Given the description of an element on the screen output the (x, y) to click on. 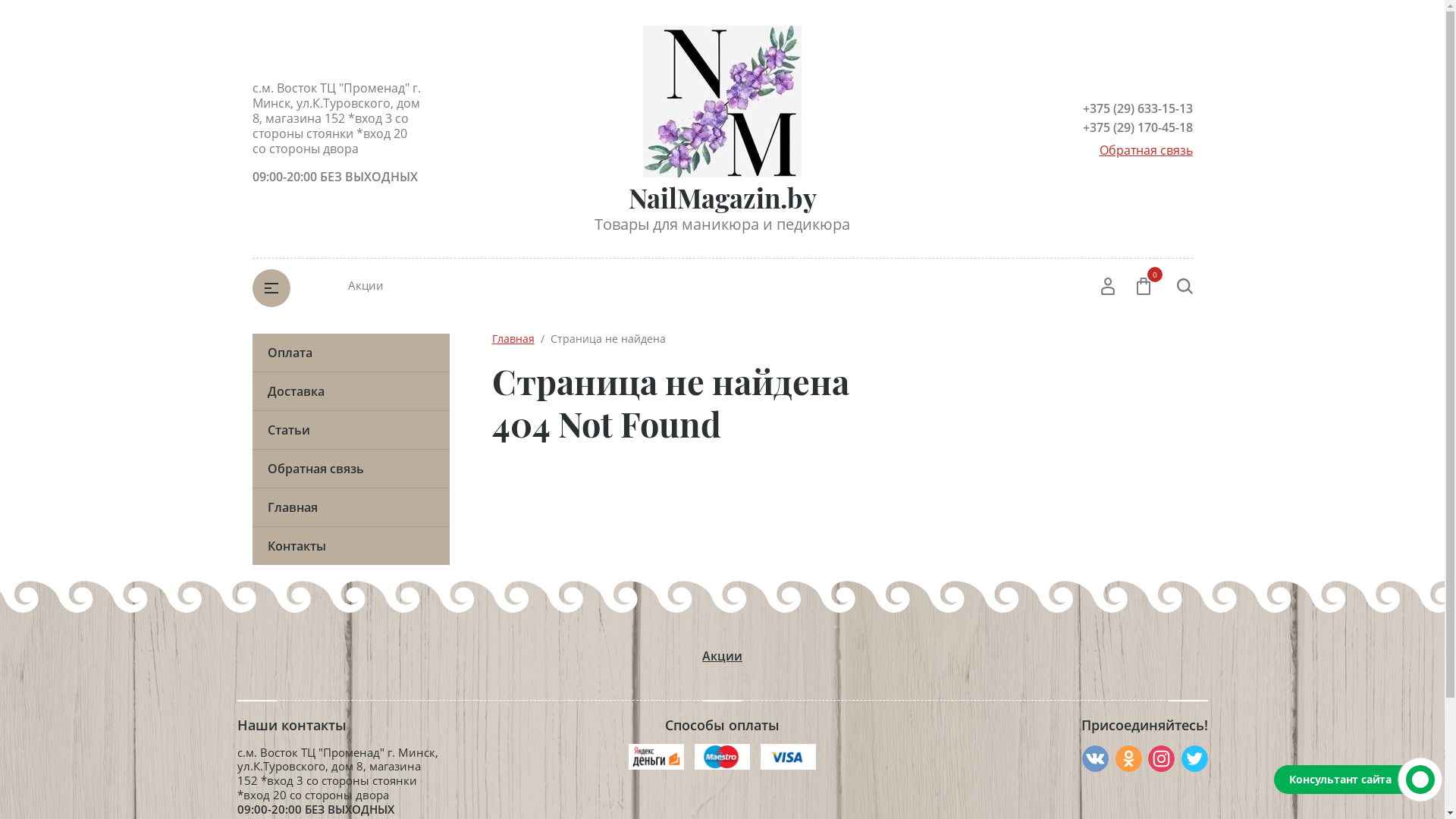
NailMagazin.by Element type: text (721, 197)
+375 (29) 170-45-18 Element type: text (1107, 126)
+375 (29) 633-15-13 Element type: text (1107, 108)
